Given the description of an element on the screen output the (x, y) to click on. 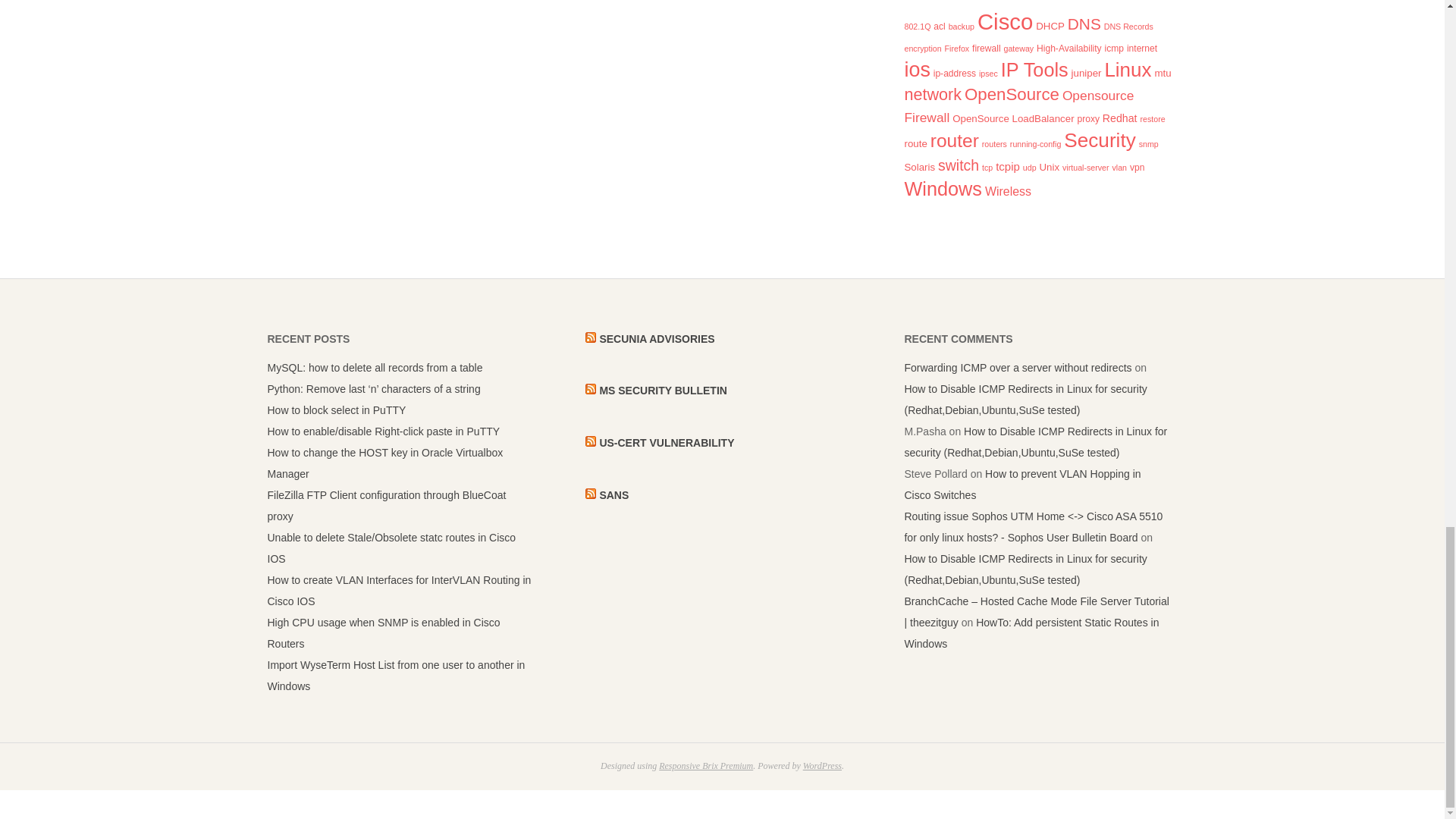
State-of-the-art semantic personal publishing platform (822, 765)
Responsive Brix Premium WordPress Theme (705, 765)
